Given the description of an element on the screen output the (x, y) to click on. 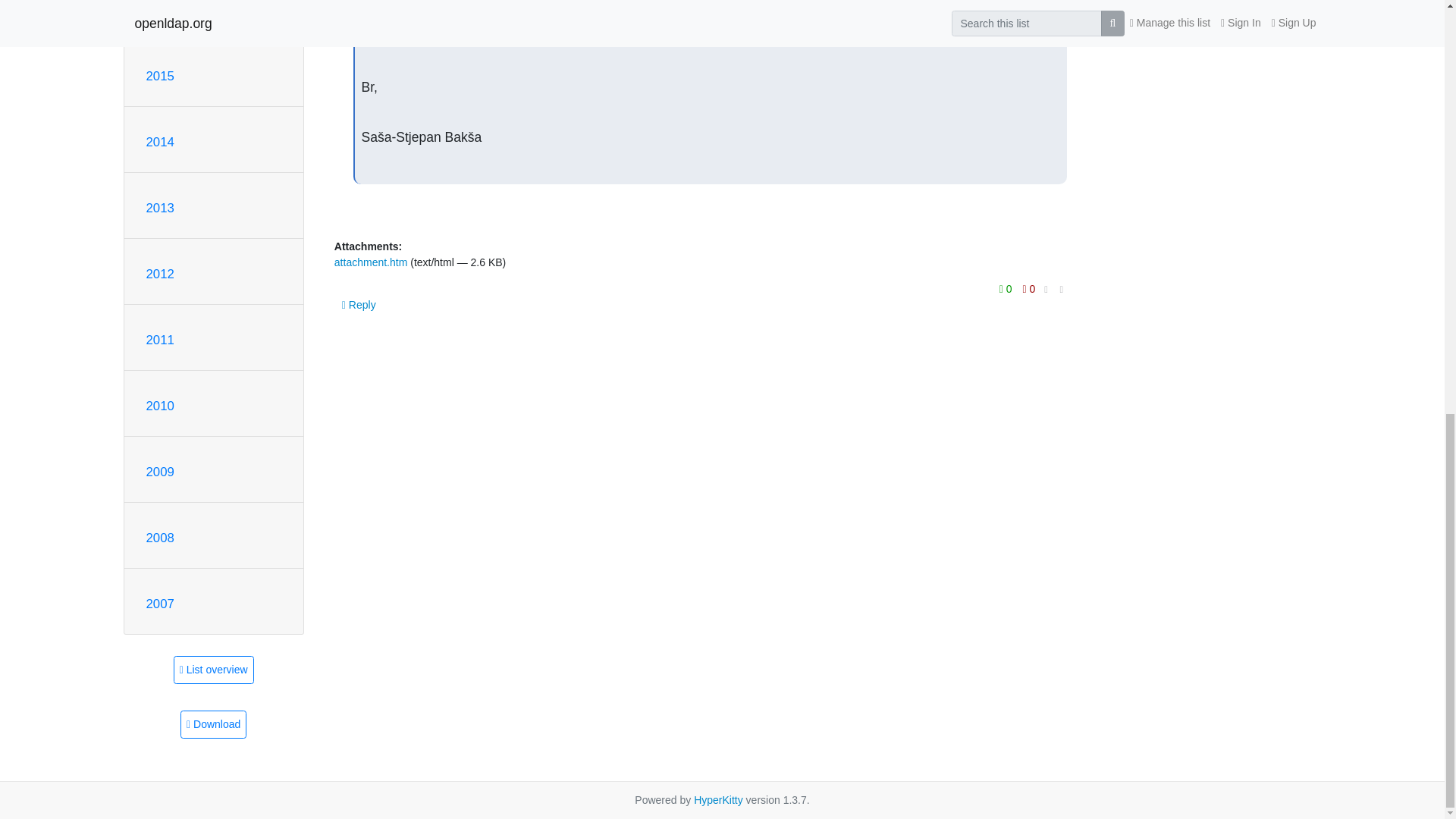
You must be logged-in to vote. (1007, 288)
This message in gzipped mbox format (213, 724)
You must be logged-in to vote. (1029, 288)
Sign in to reply online (359, 304)
